Given the description of an element on the screen output the (x, y) to click on. 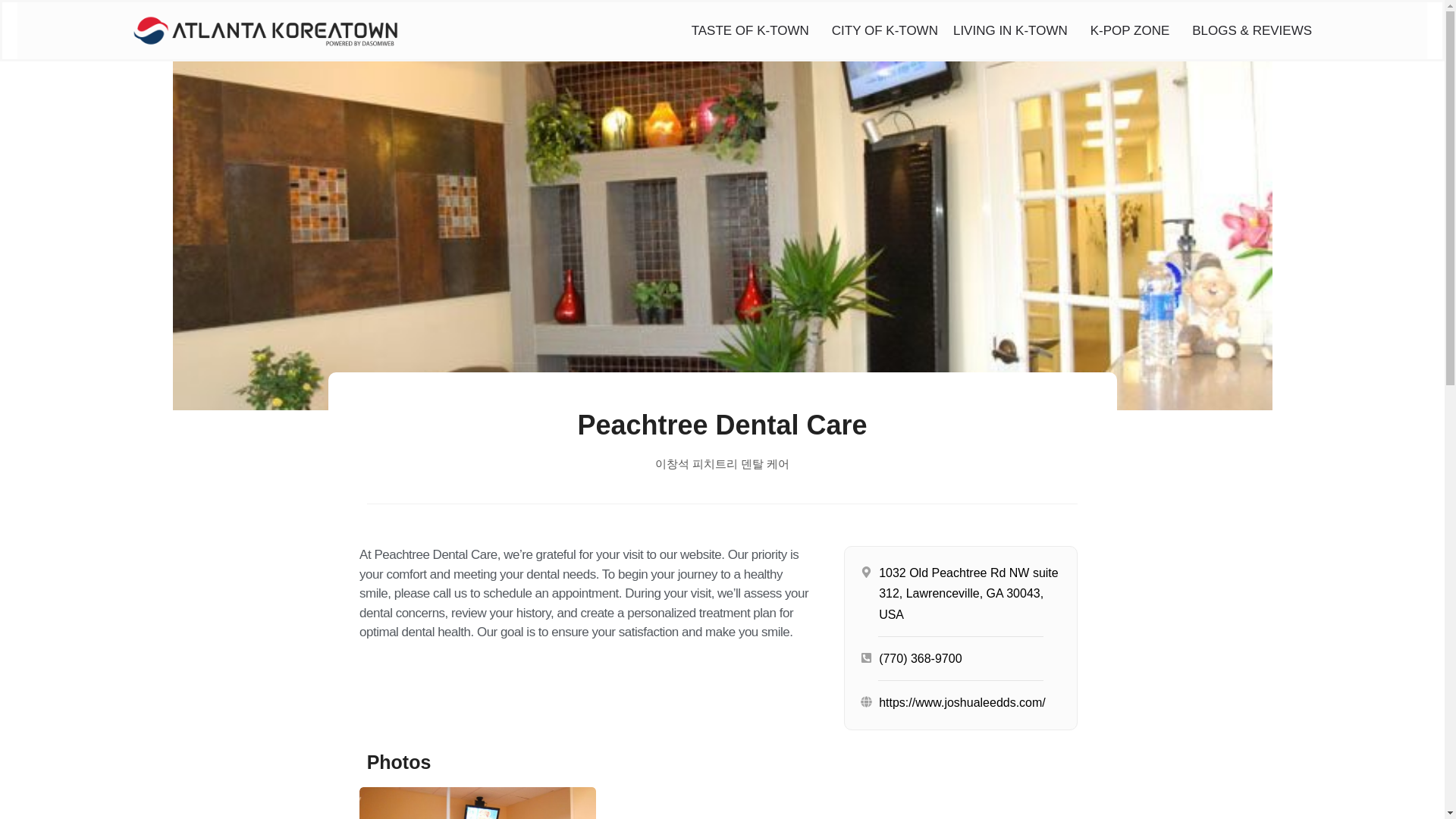
TASTE OF K-TOWN (753, 31)
CITY OF K-TOWN (884, 31)
LIVING IN K-TOWN (1014, 31)
K-POP ZONE (1133, 31)
